Given the description of an element on the screen output the (x, y) to click on. 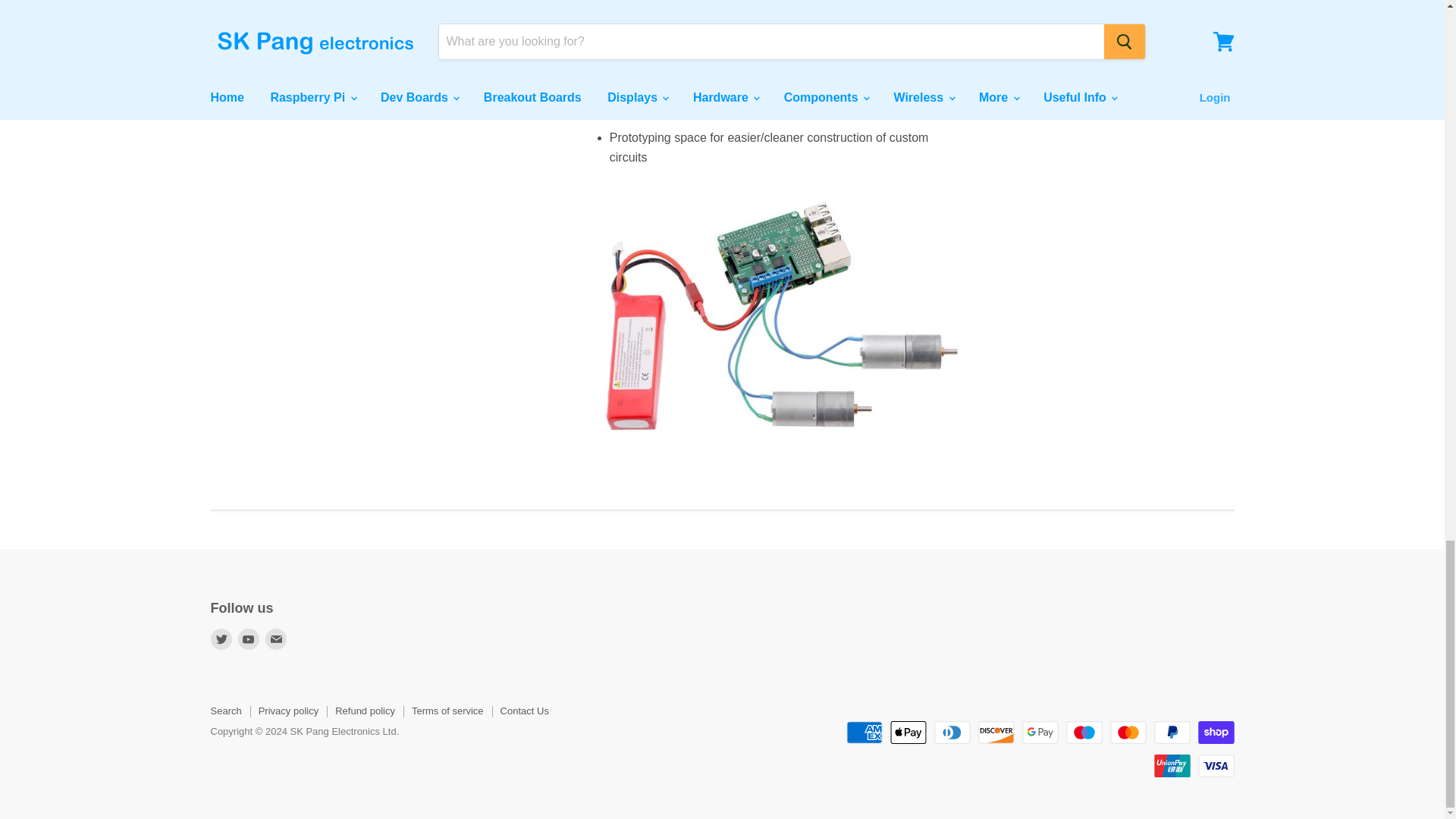
Email (275, 639)
Youtube (248, 639)
Twitter (221, 639)
